Given the description of an element on the screen output the (x, y) to click on. 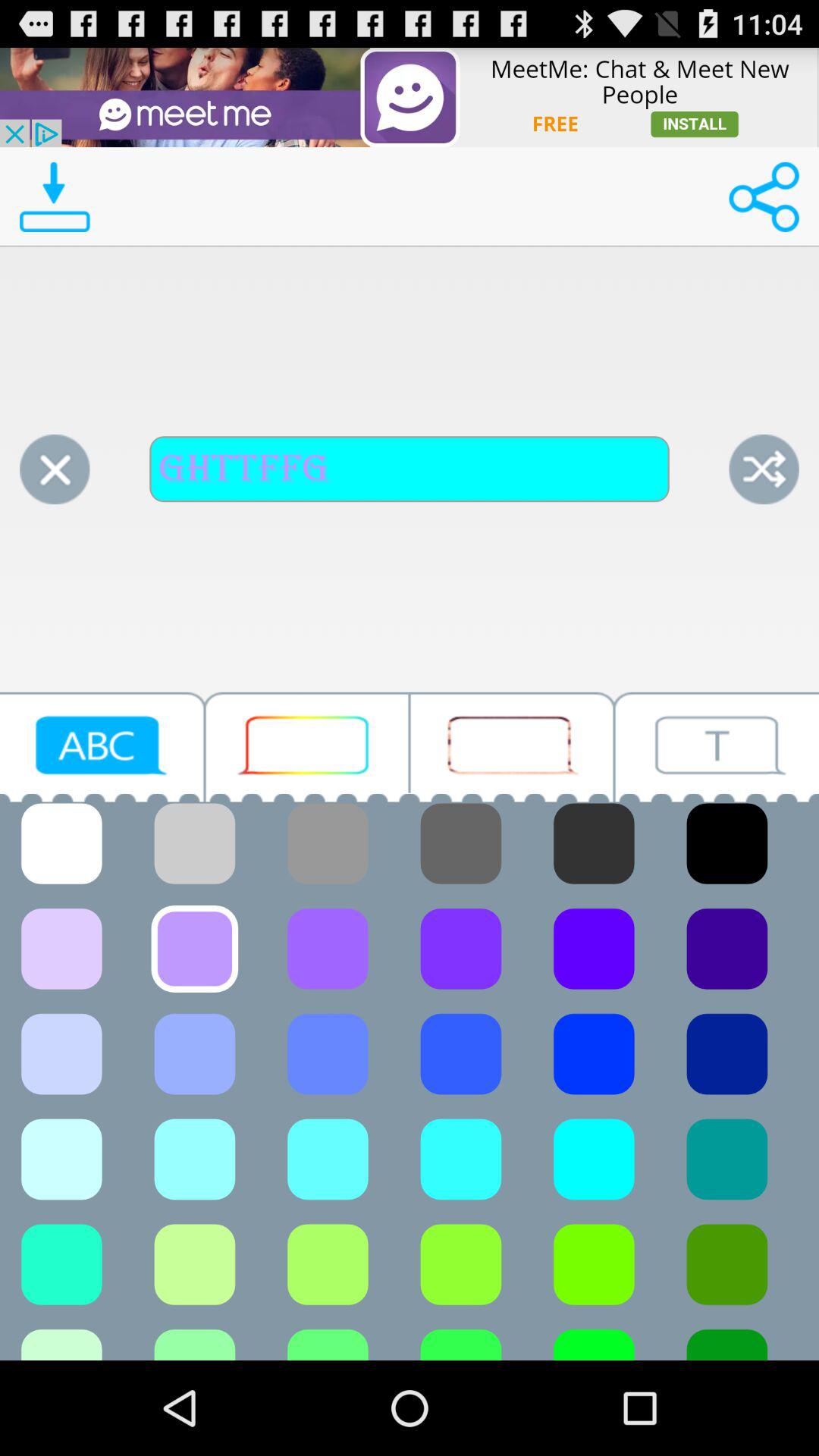
select button (511, 746)
